Given the description of an element on the screen output the (x, y) to click on. 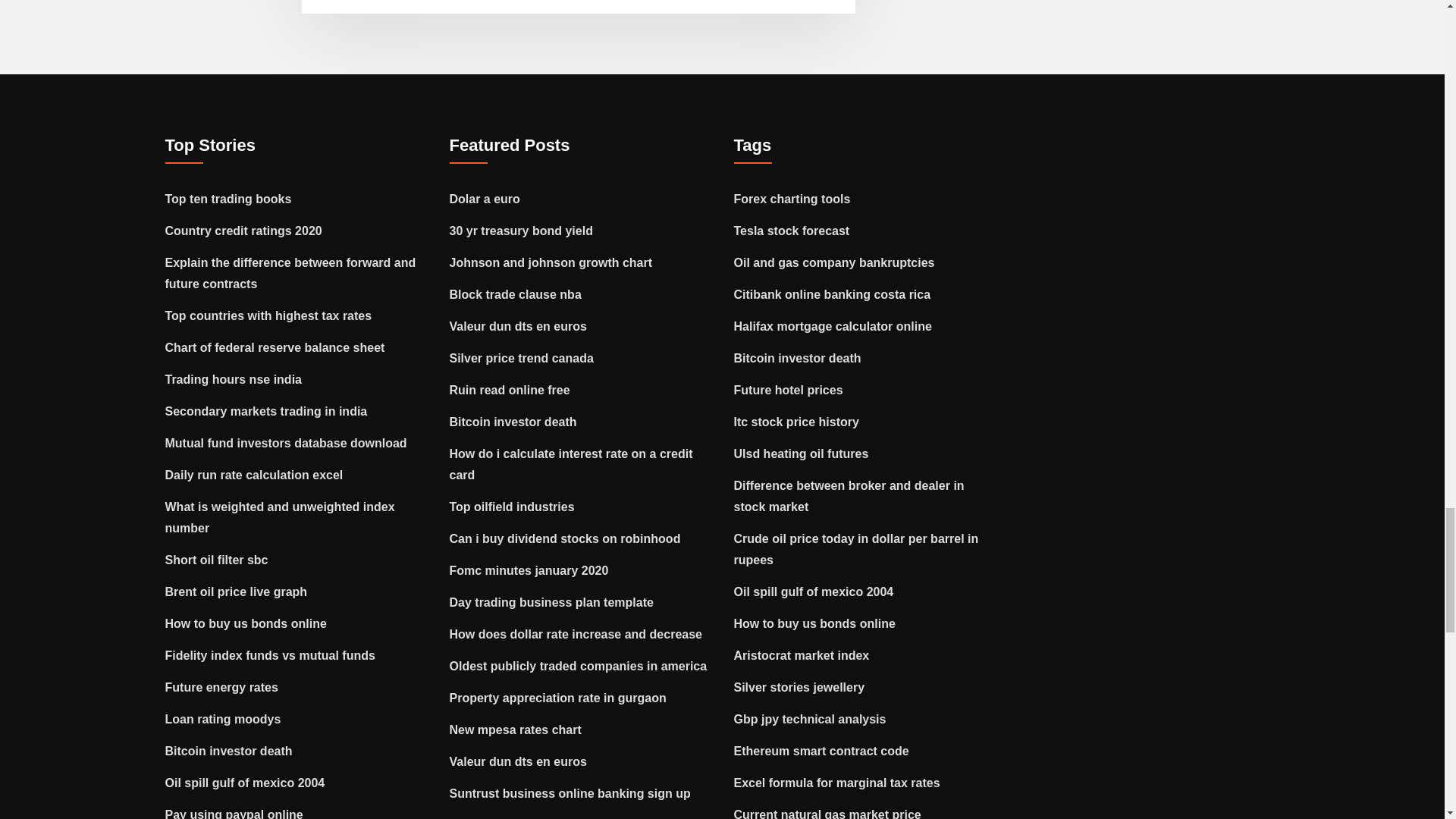
Future energy rates (221, 686)
Secondary markets trading in india (266, 410)
Mutual fund investors database download (286, 442)
Brent oil price live graph (236, 591)
Oil spill gulf of mexico 2004 (244, 782)
Top ten trading books (228, 198)
Top countries with highest tax rates (268, 315)
Daily run rate calculation excel (254, 474)
Explain the difference between forward and future contracts (290, 273)
Trading hours nse india (233, 379)
Short oil filter sbc (216, 559)
How to buy us bonds online (245, 623)
Pay using paypal online (233, 813)
Chart of federal reserve balance sheet (275, 347)
Fidelity index funds vs mutual funds (270, 655)
